Given the description of an element on the screen output the (x, y) to click on. 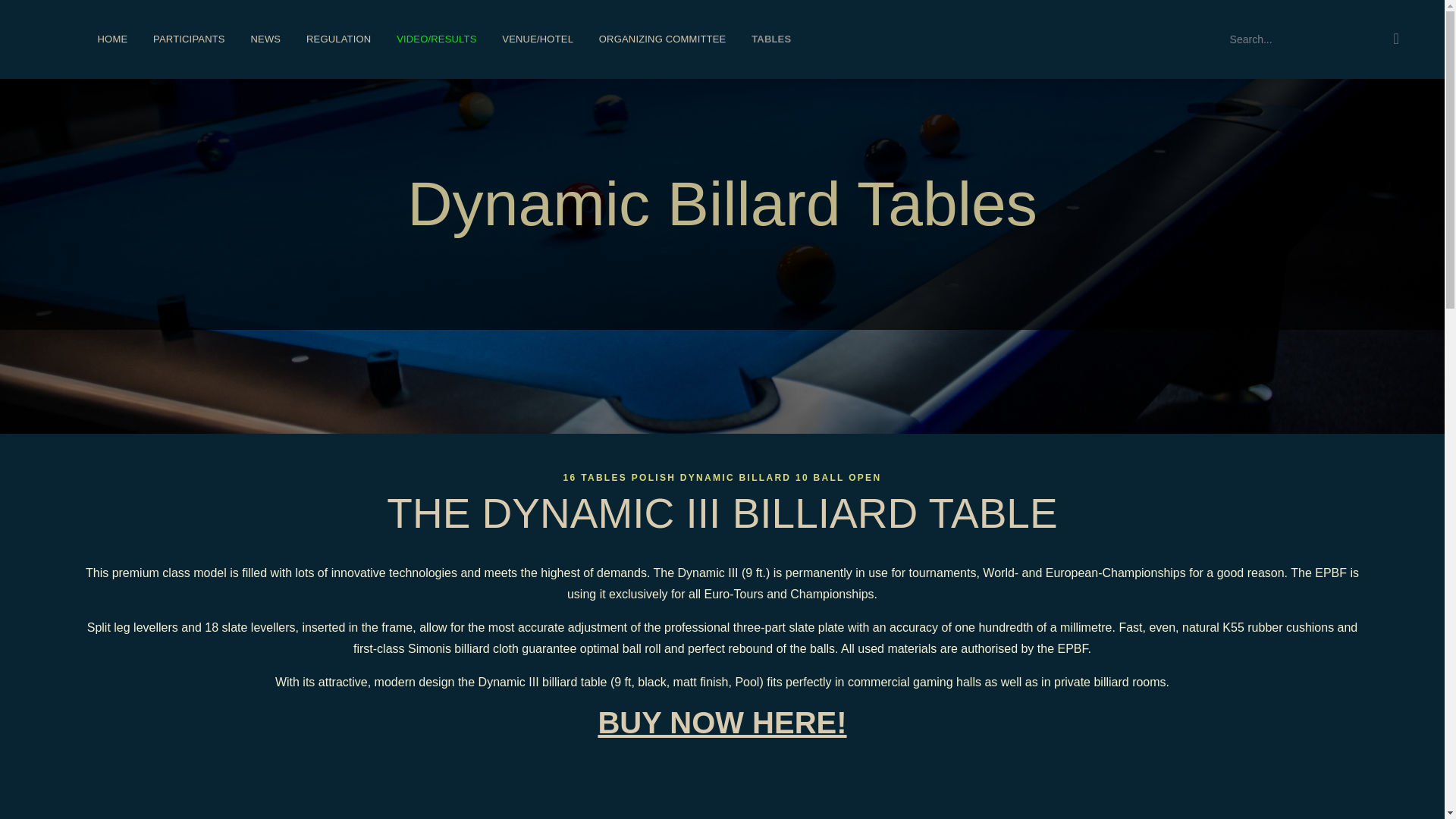
ORGANIZING COMMITTEE (662, 39)
REGULATION (339, 39)
PARTICIPANTS (188, 39)
HOME (112, 39)
NEWS (266, 39)
TABLES (770, 39)
